Given the description of an element on the screen output the (x, y) to click on. 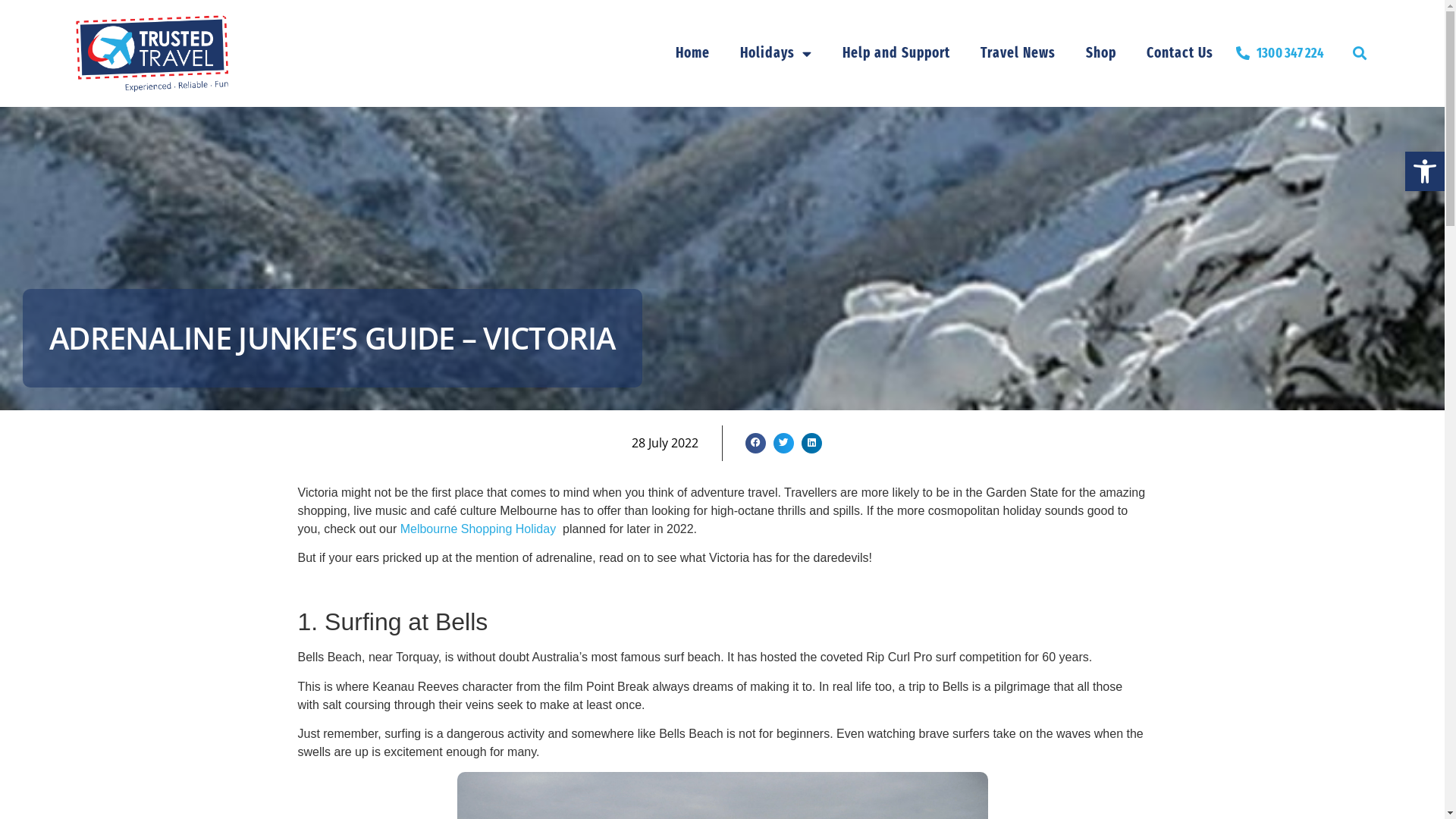
1300 347 224 Element type: text (1280, 53)
Home Element type: text (692, 52)
Shop Element type: text (1100, 52)
Open toolbar
Accessibility Tools Element type: text (1424, 171)
28 July 2022 Element type: text (665, 442)
Contact Us Element type: text (1179, 52)
Help and Support Element type: text (896, 52)
Travel News Element type: text (1017, 52)
Holidays Element type: text (775, 52)
Melbourne Shopping Holiday Element type: text (477, 528)
